Given the description of an element on the screen output the (x, y) to click on. 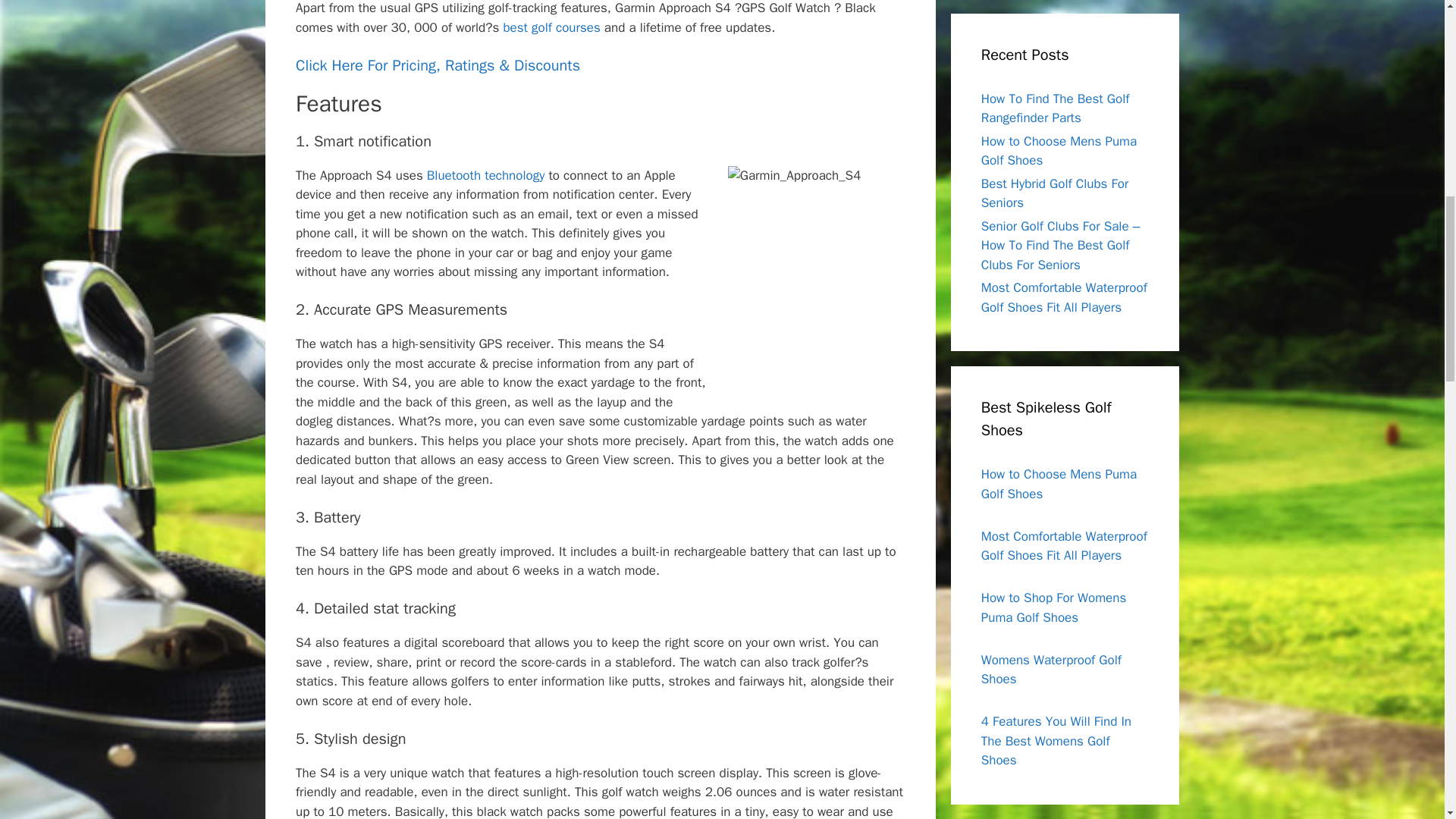
Bluetooth technology (485, 175)
best golf courses (550, 27)
